Given the description of an element on the screen output the (x, y) to click on. 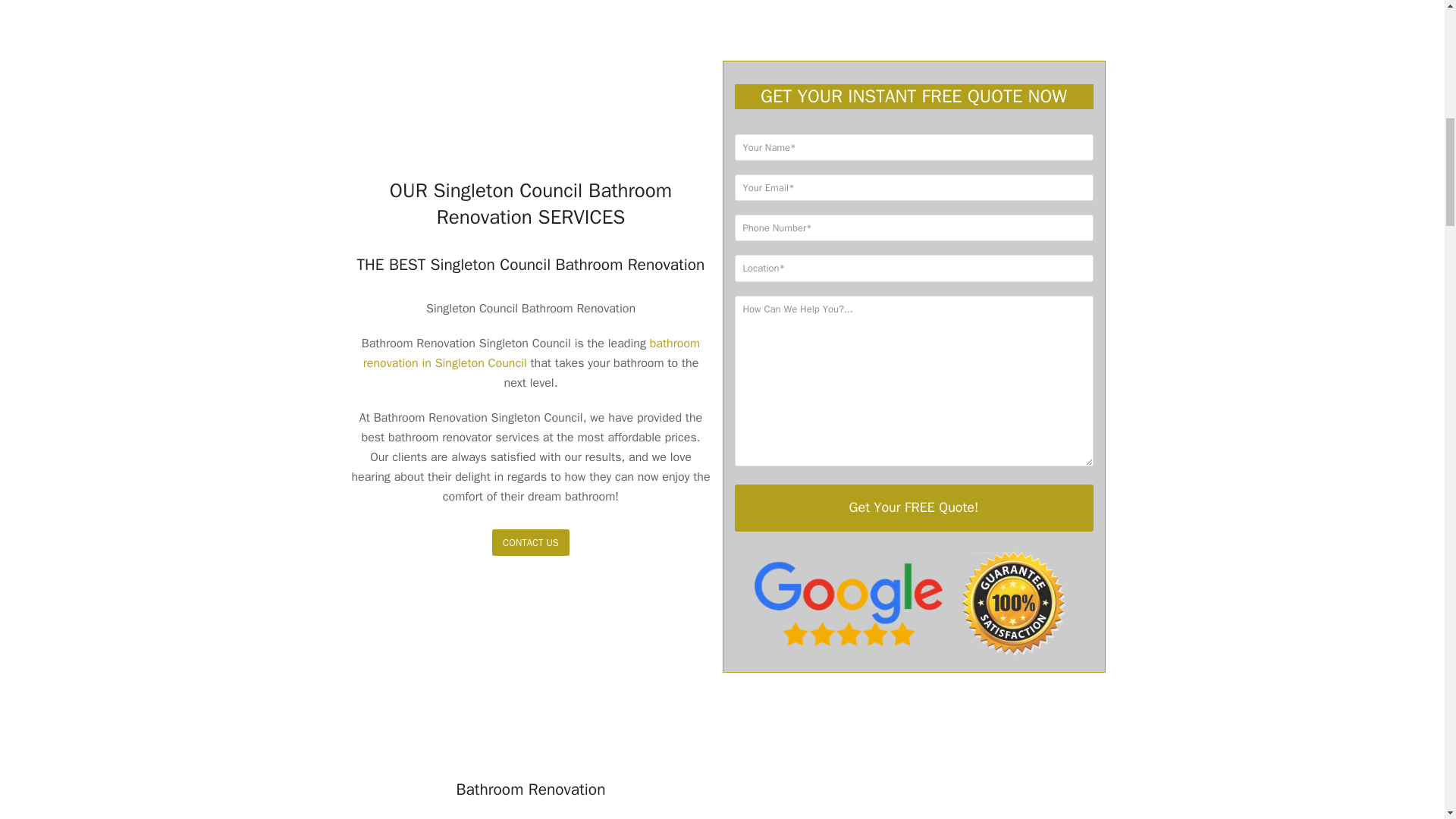
Google Review Badges Trust (913, 603)
Get Your FREE Quote! (913, 507)
Contact us (530, 542)
